Given the description of an element on the screen output the (x, y) to click on. 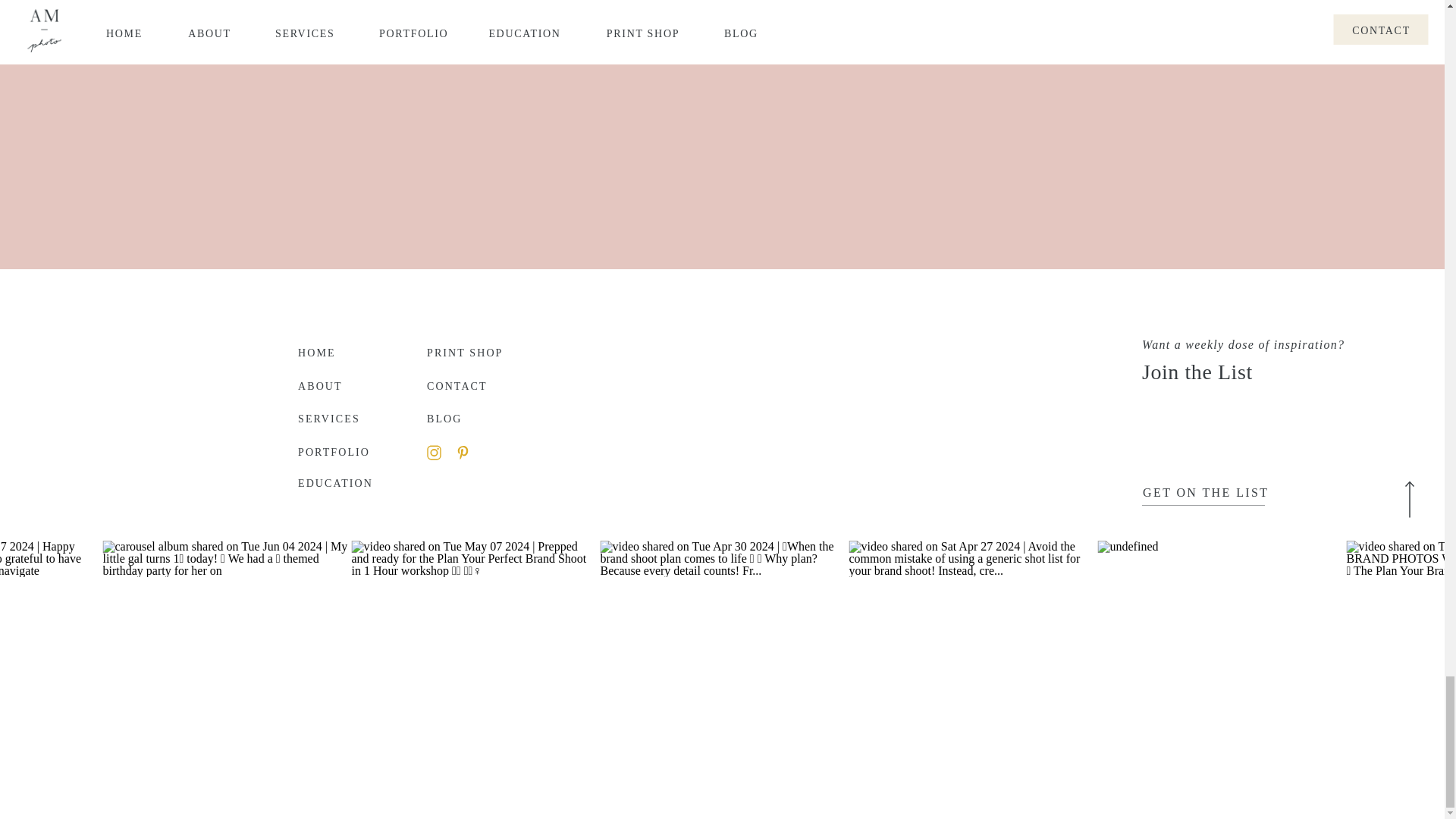
undefined (1127, 546)
